Given the description of an element on the screen output the (x, y) to click on. 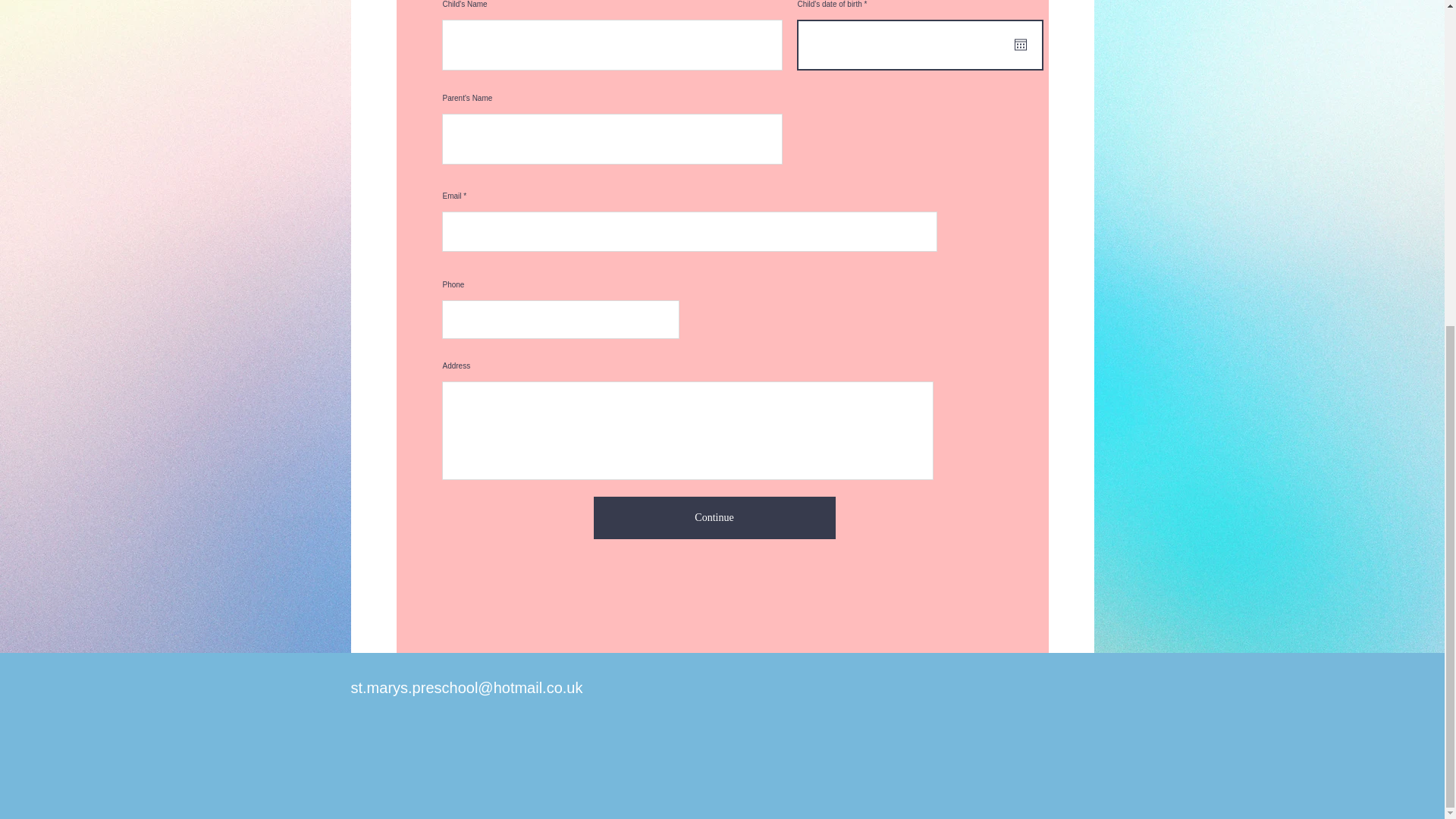
Continue (713, 517)
